Given the description of an element on the screen output the (x, y) to click on. 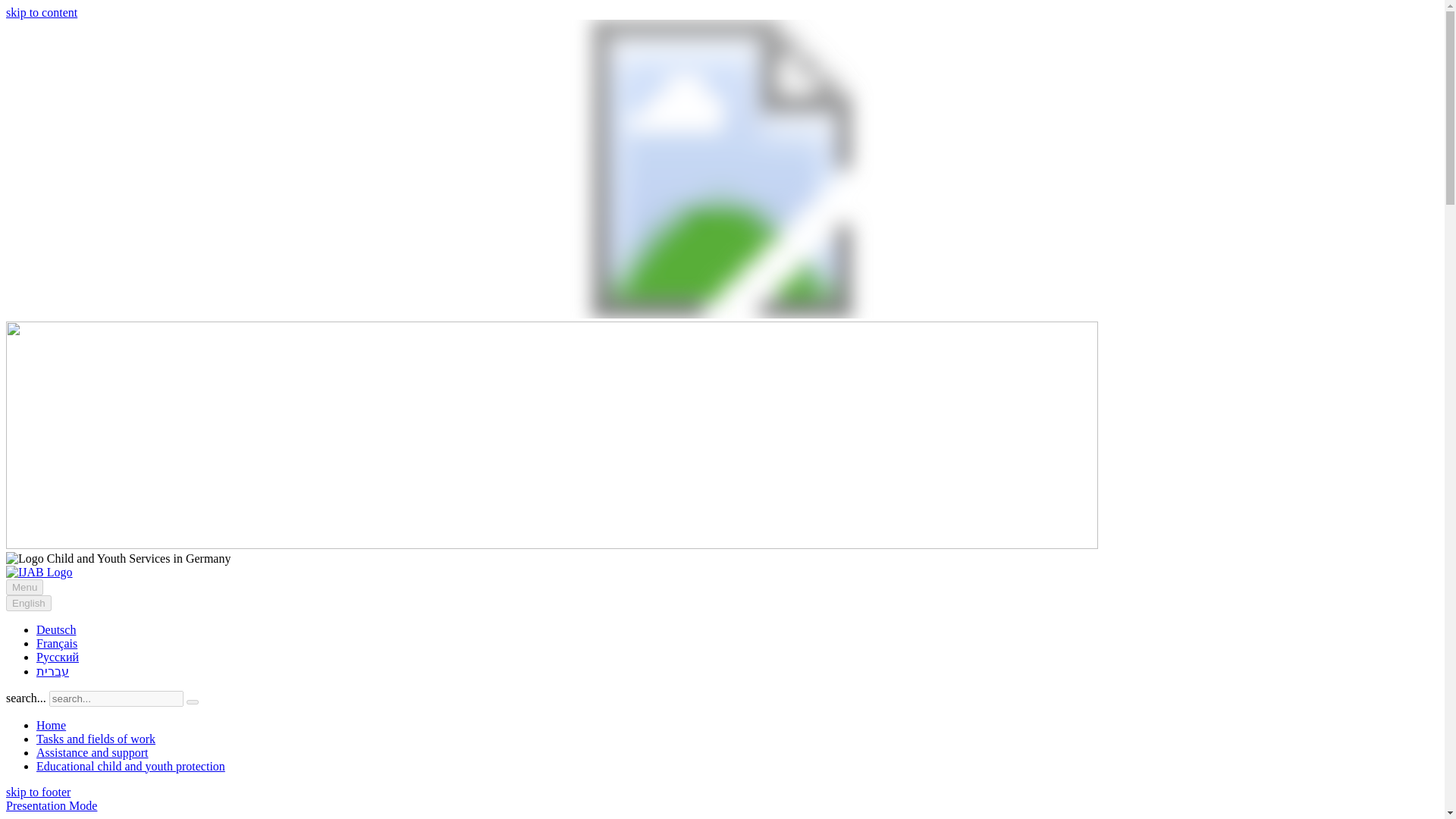
Menu (24, 587)
skip to content (37, 791)
Presentation Mode (51, 805)
Educational child and youth protection (130, 766)
skip to content (41, 11)
skip to content (41, 11)
Tasks and fields of work (95, 738)
Deutsch (55, 629)
Assistance and support (92, 752)
Deutsch (55, 629)
skip to footer (37, 791)
Home (50, 725)
English (27, 602)
